Given the description of an element on the screen output the (x, y) to click on. 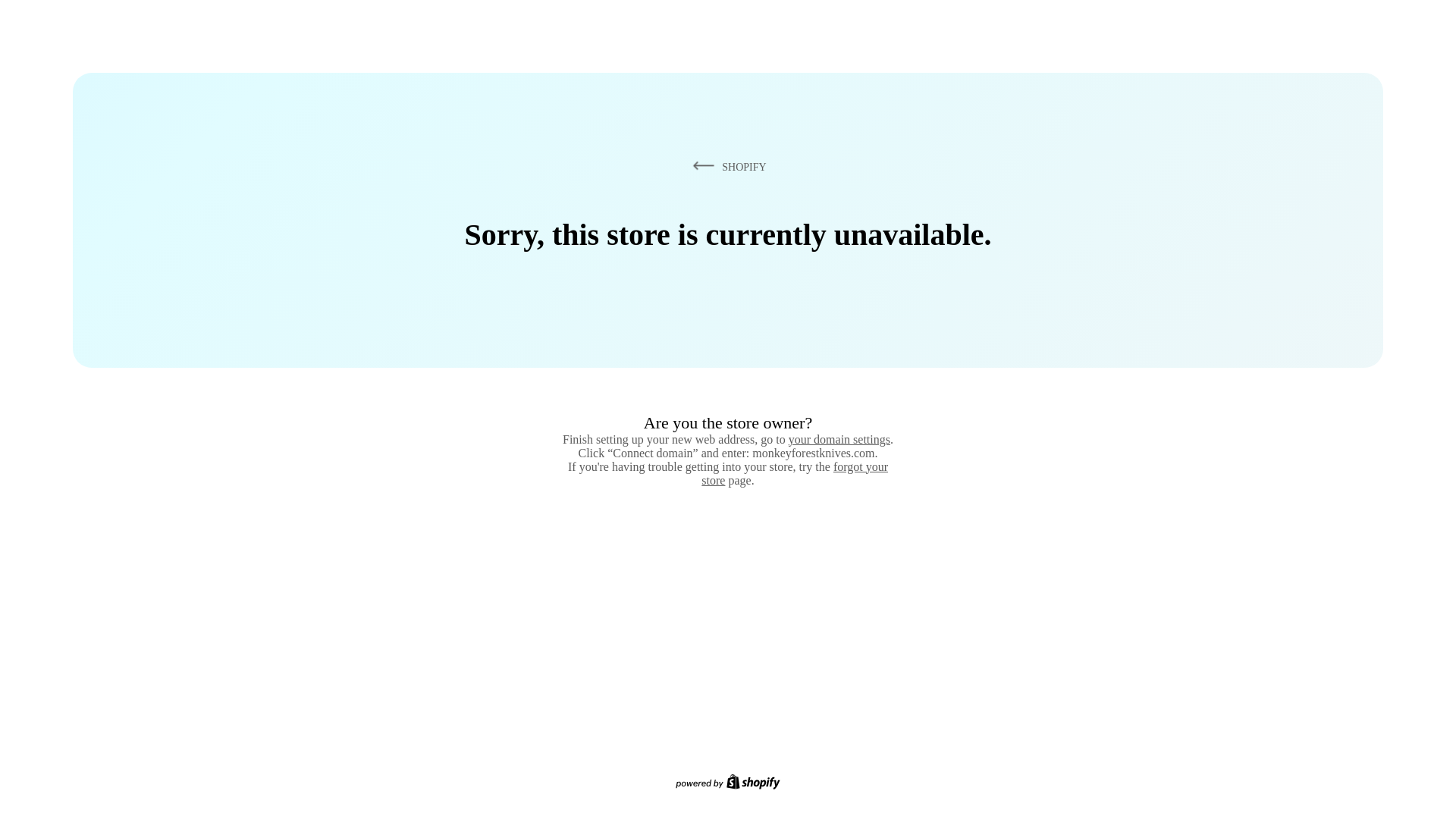
SHOPIFY (726, 166)
forgot your store (794, 473)
your domain settings (839, 439)
